Given the description of an element on the screen output the (x, y) to click on. 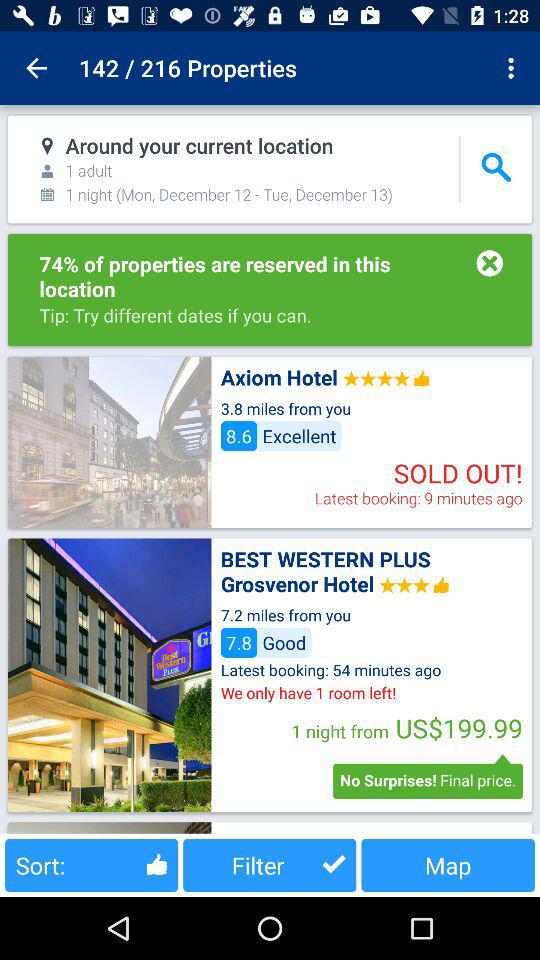
turn off button next to filter (447, 864)
